Given the description of an element on the screen output the (x, y) to click on. 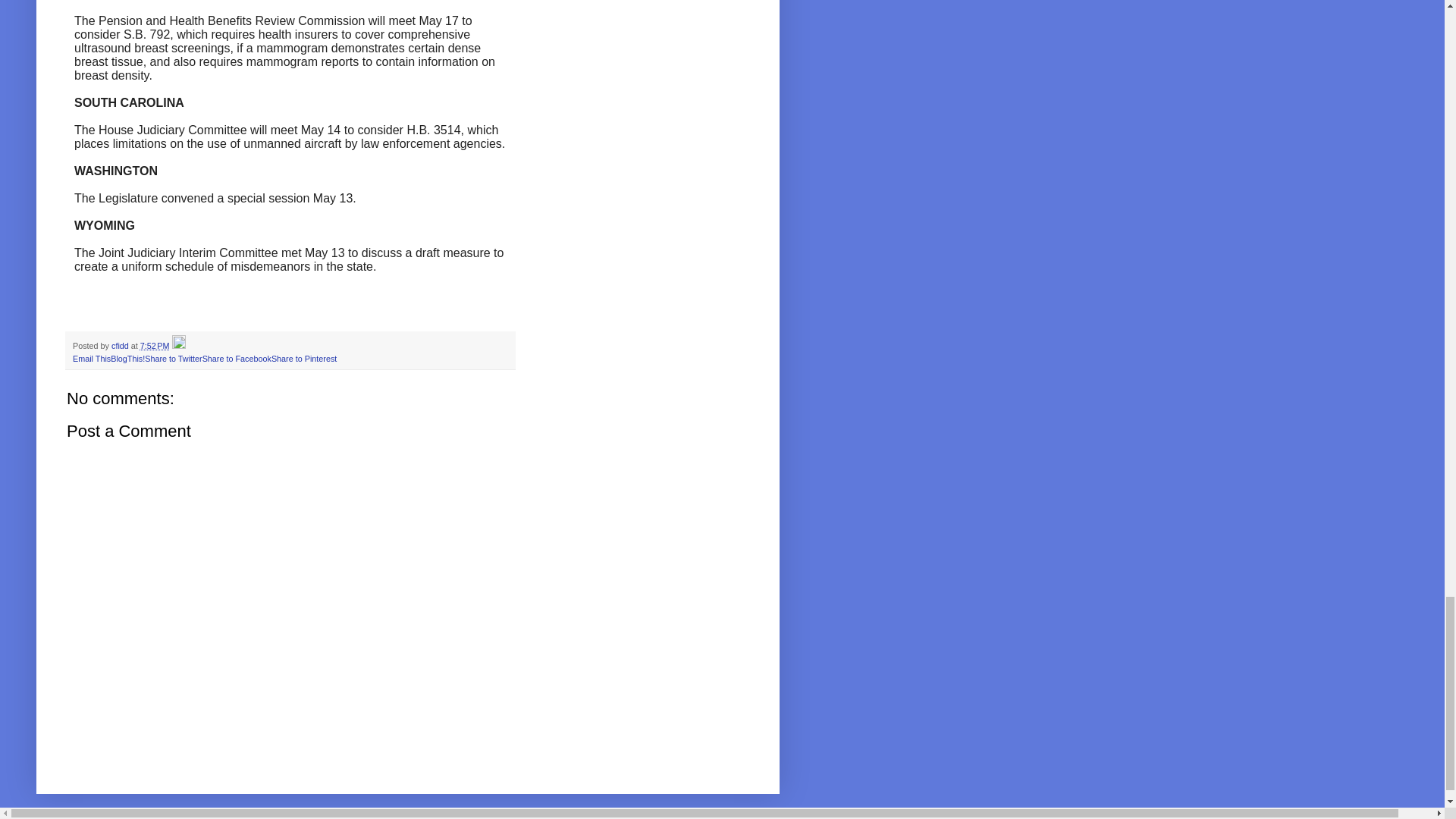
BlogThis! (127, 358)
Email This (91, 358)
author profile (121, 345)
Share to Facebook (236, 358)
cfidd (121, 345)
permanent link (154, 345)
Share to Pinterest (303, 358)
Share to Twitter (173, 358)
Edit Post (178, 345)
